Given the description of an element on the screen output the (x, y) to click on. 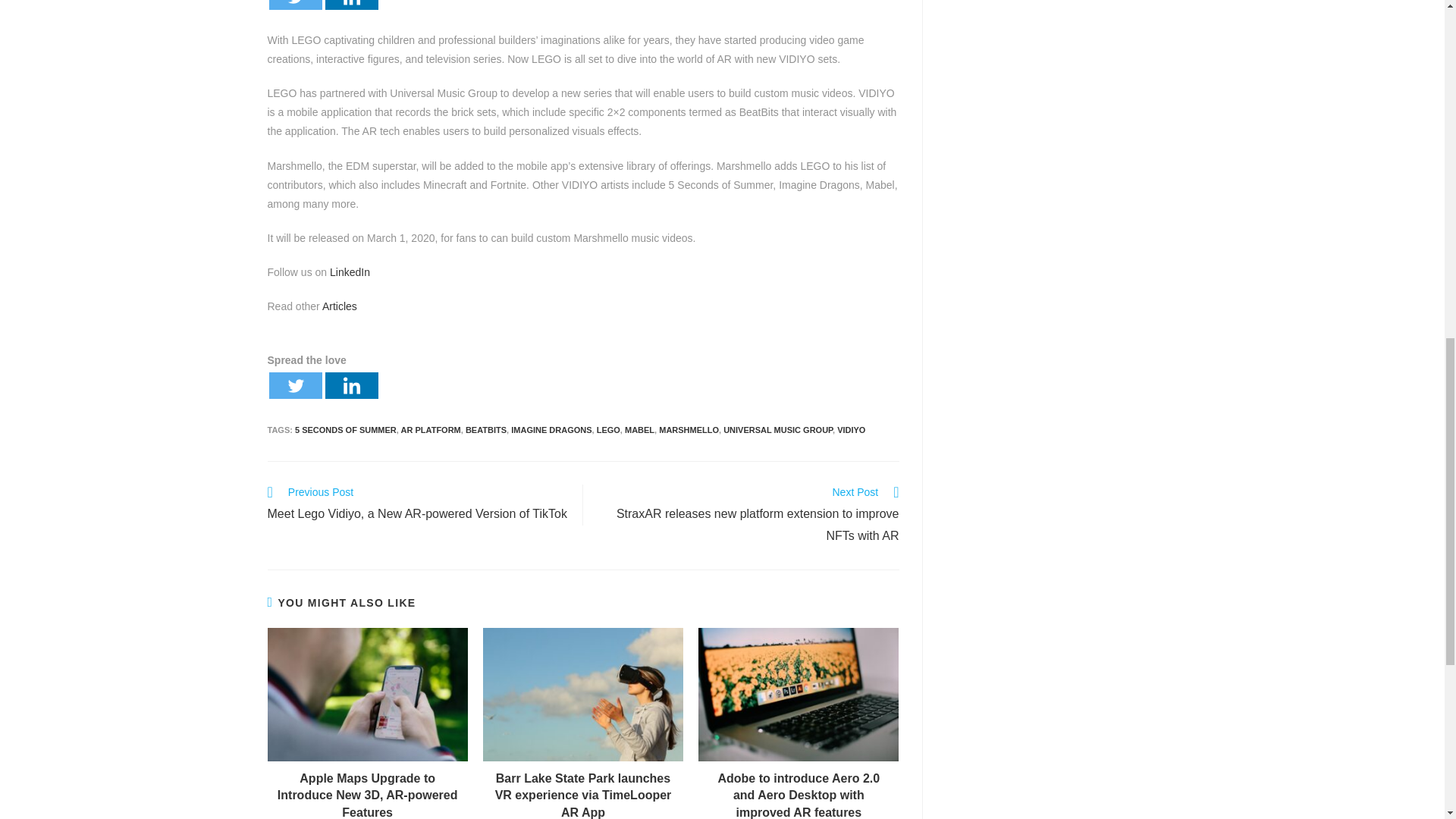
MABEL (638, 429)
LinkedIn (349, 272)
5 SECONDS OF SUMMER (345, 429)
Twitter (294, 385)
Twitter (294, 4)
VIDIYO (850, 429)
UNIVERSAL MUSIC GROUP (777, 429)
IMAGINE DRAGONS (551, 429)
AR PLATFORM (431, 429)
Apple Maps Upgrade to Introduce New 3D, AR-powered Features (367, 794)
Articles (338, 306)
MARSHMELLO (689, 429)
BEATBITS (485, 429)
Linkedin (350, 4)
